Given the description of an element on the screen output the (x, y) to click on. 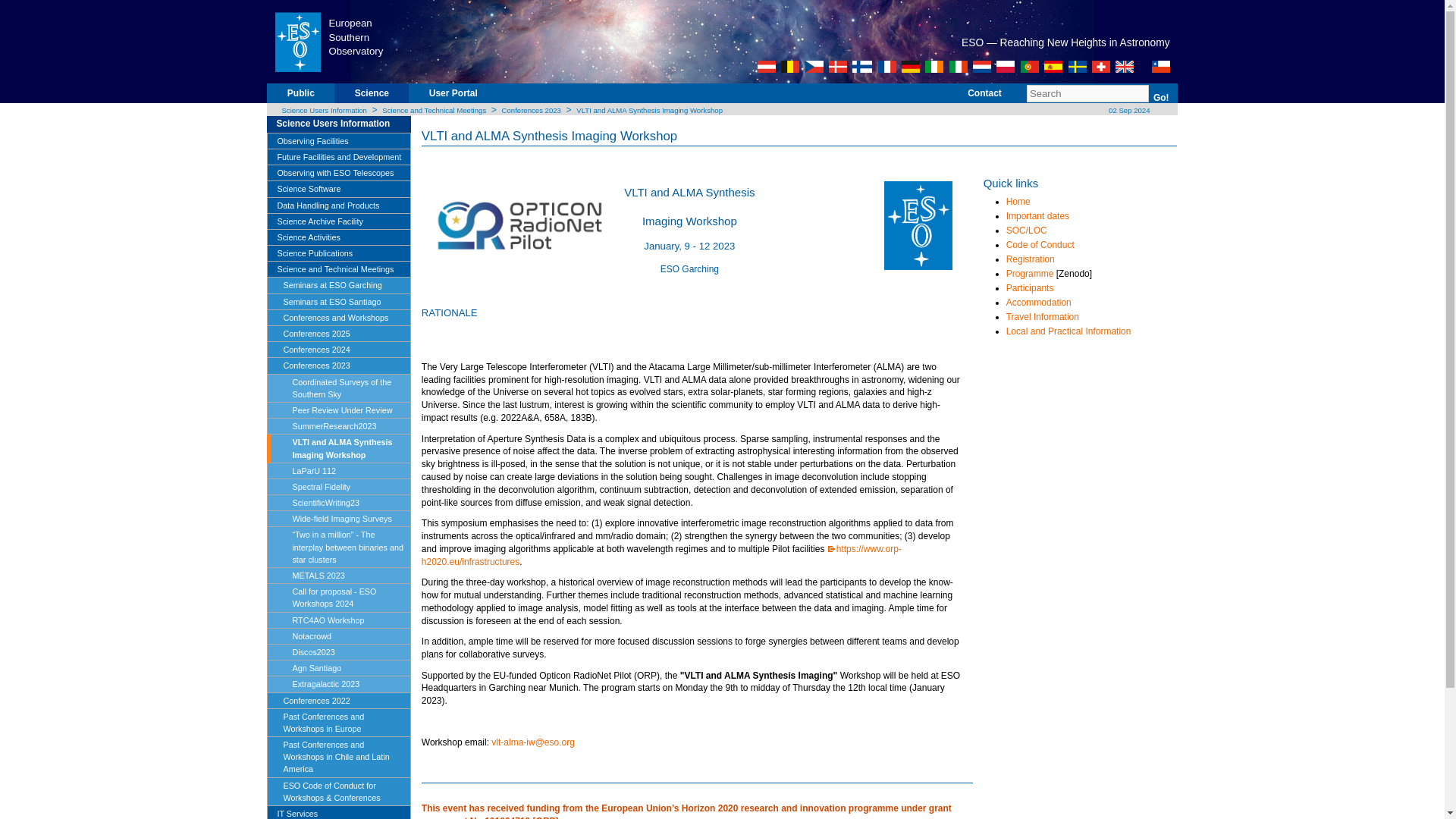
Science Users Information (343, 124)
Science (371, 98)
VLTI and ALMA Synthesis Imaging Workshop (649, 110)
Spain (1052, 66)
Netherlands (981, 66)
France (886, 66)
ESO (297, 40)
Observing Facilities (338, 141)
Sweden (1077, 66)
Poland (1004, 66)
